Given the description of an element on the screen output the (x, y) to click on. 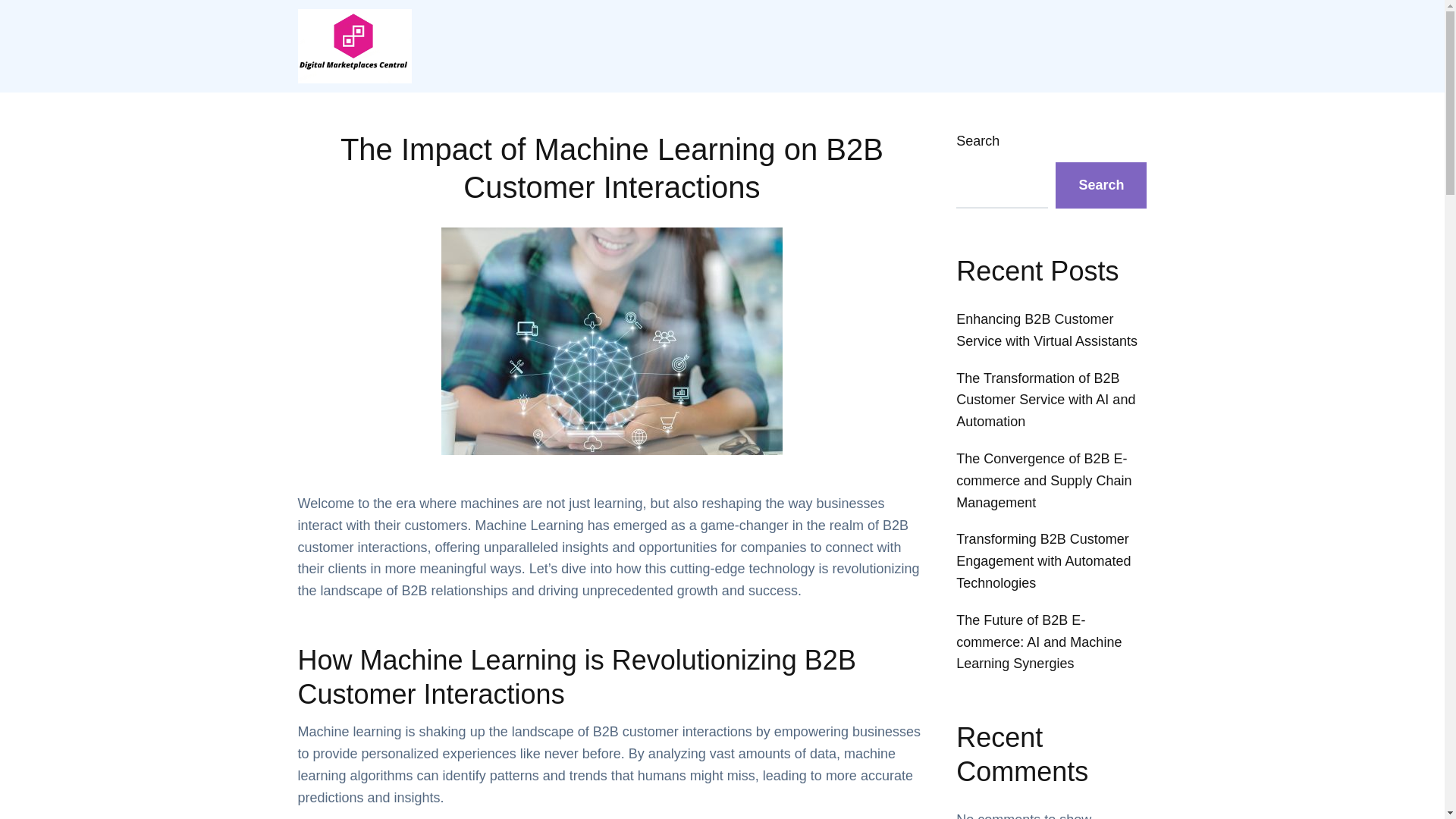
Search (1101, 185)
Enhancing B2B Customer Service with Virtual Assistants (1046, 330)
